Given the description of an element on the screen output the (x, y) to click on. 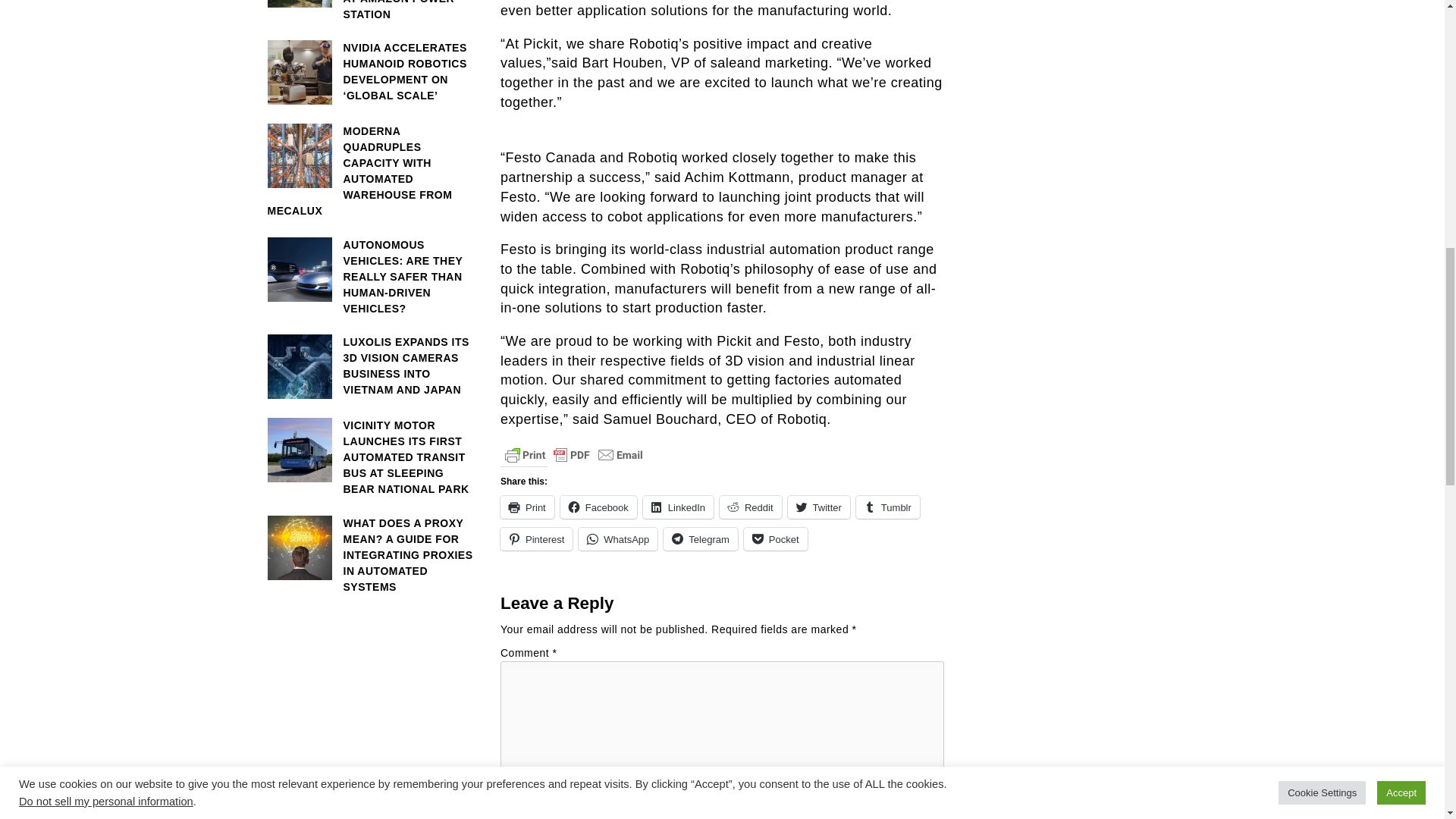
Click to share on Pinterest (536, 538)
Click to print (527, 507)
Click to share on LinkedIn (678, 507)
Click to share on Twitter (818, 507)
Click to share on Telegram (699, 538)
Click to share on Tumblr (888, 507)
Click to share on Pocket (776, 538)
Click to share on WhatsApp (618, 538)
Click to share on Facebook (598, 507)
Click to share on Reddit (750, 507)
